Given the description of an element on the screen output the (x, y) to click on. 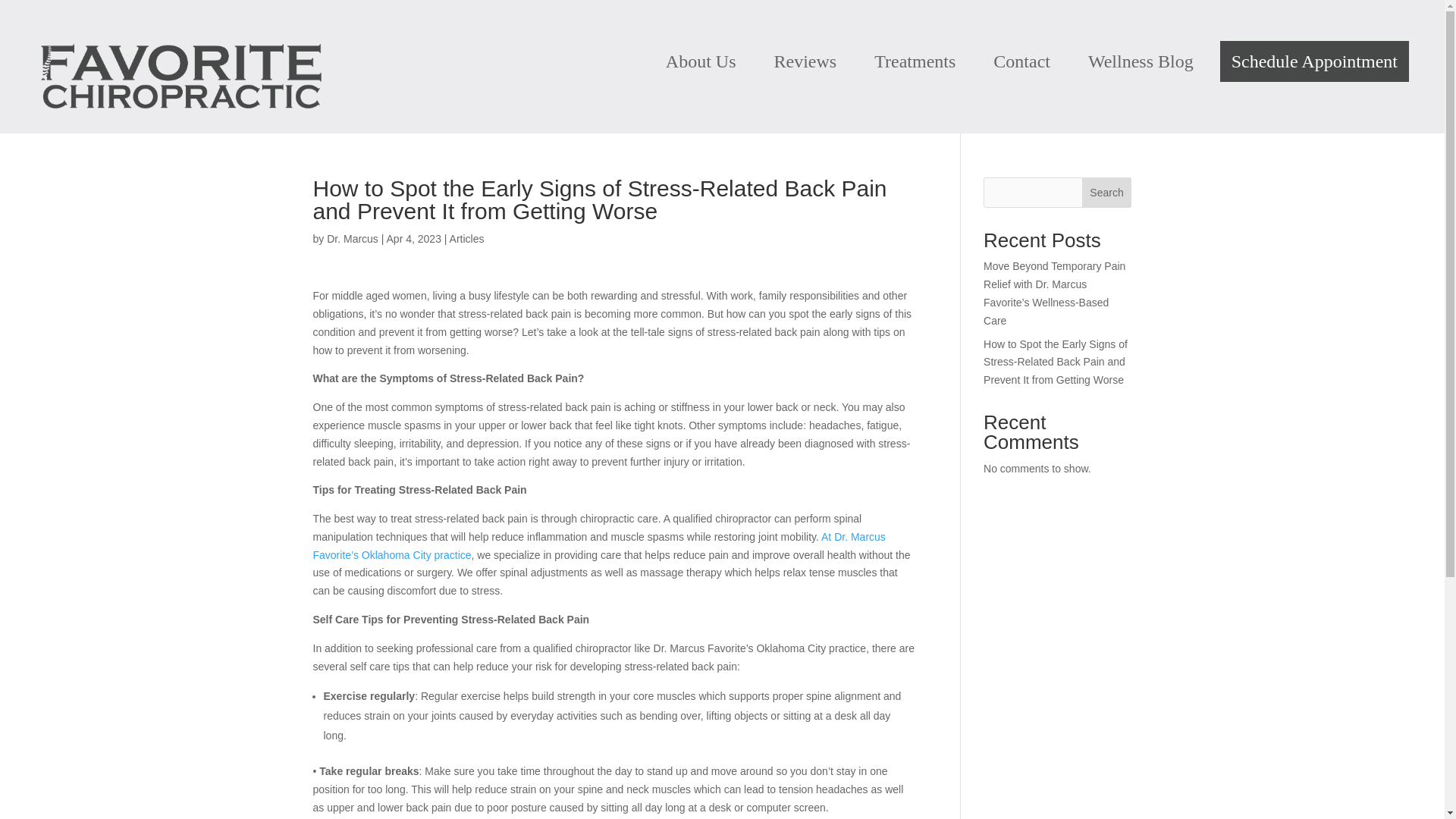
Reviews (805, 60)
Posts by Dr. Marcus (352, 238)
Schedule Appointment (1314, 60)
About Us (700, 60)
Dr. Marcus (352, 238)
Contact (1021, 60)
Treatments (914, 60)
Articles (466, 238)
Search (1106, 192)
